Given the description of an element on the screen output the (x, y) to click on. 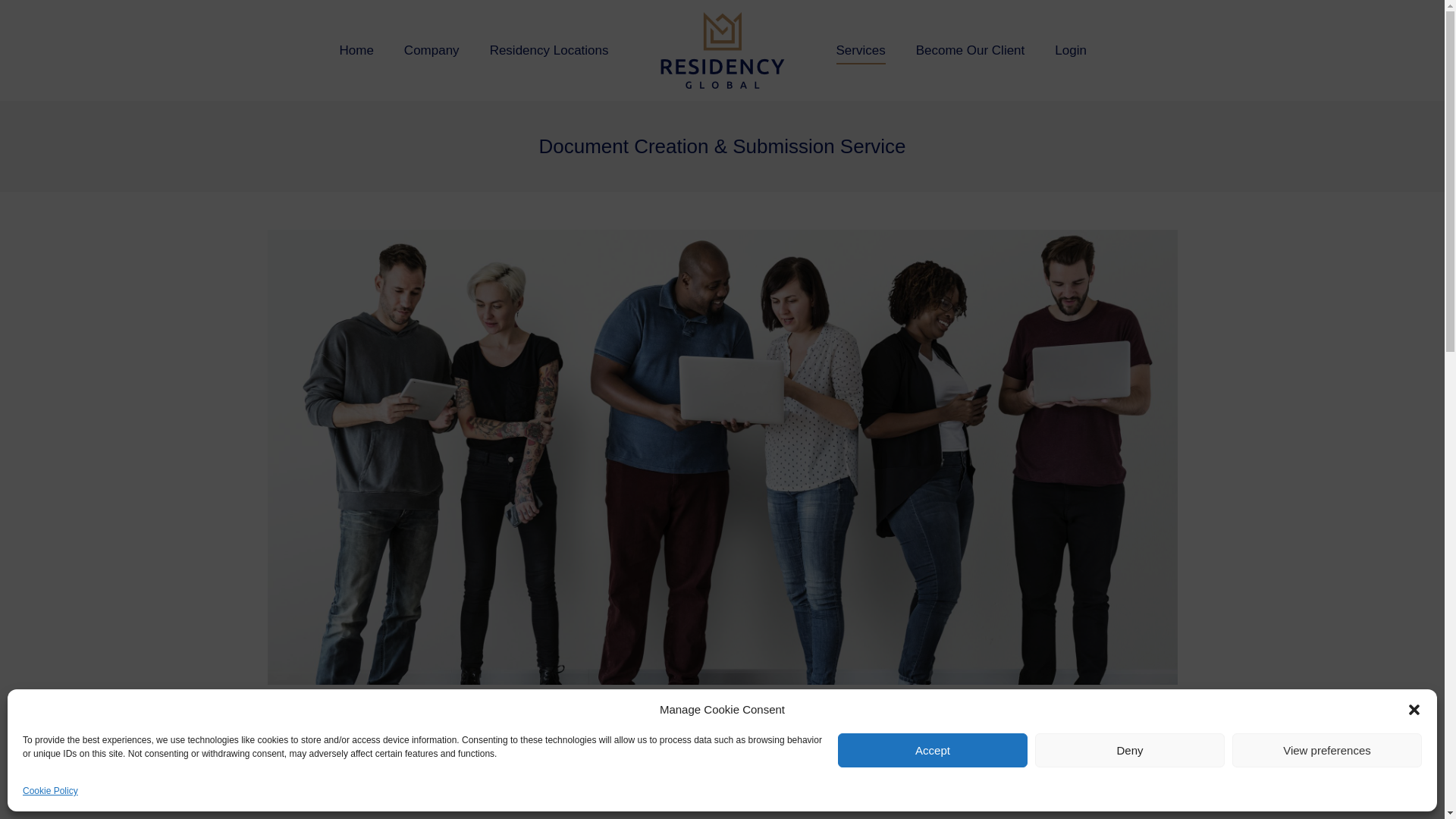
Become Our Client (970, 50)
Deny (1129, 750)
Cookie Policy (50, 791)
Accept (932, 750)
View preferences (1326, 750)
Residency Locations (548, 50)
